Given the description of an element on the screen output the (x, y) to click on. 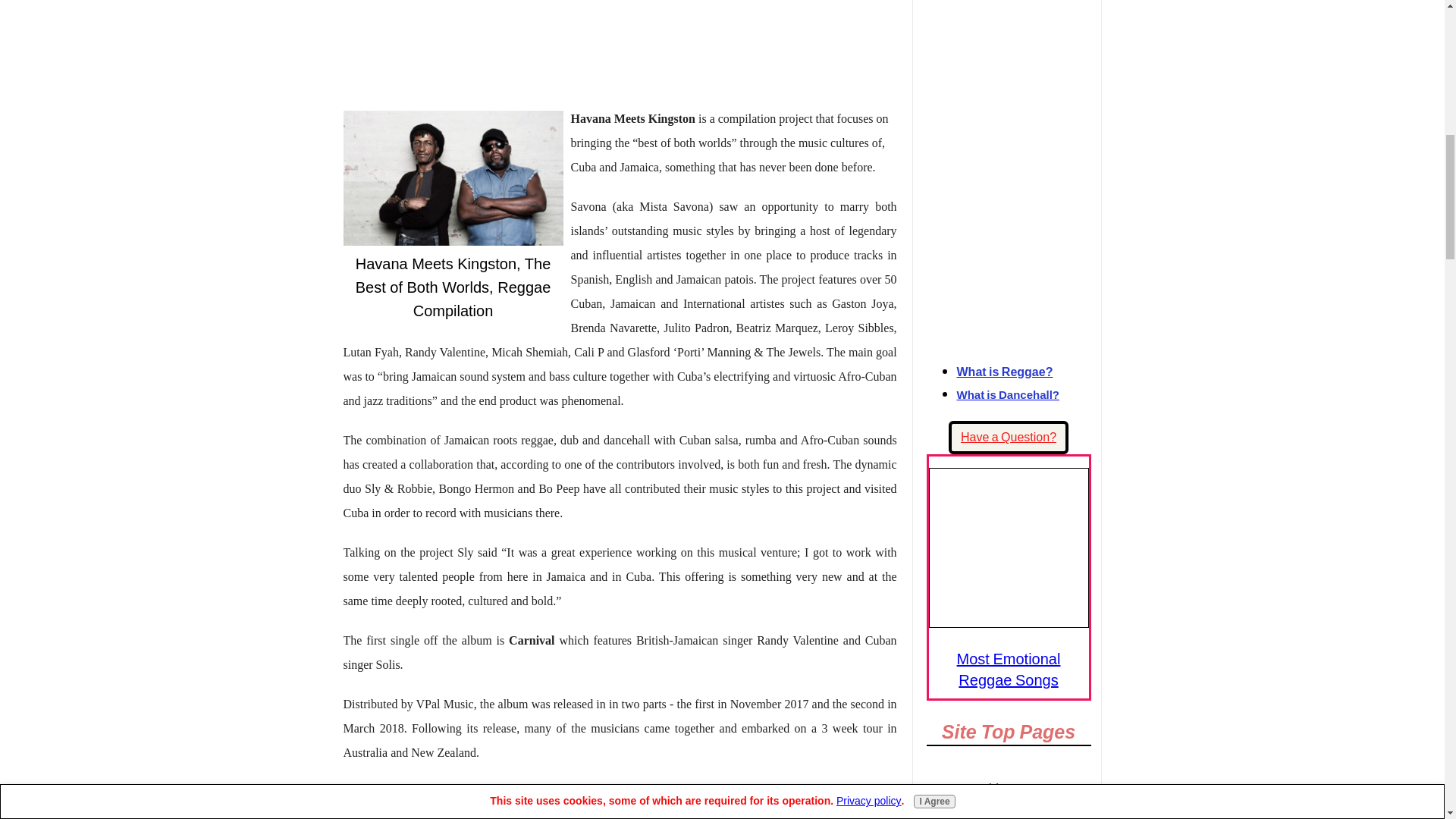
Most Emotional Reggae Songs (1007, 547)
Go to Most Emotional Reggae Songs (1007, 622)
Articles (1008, 811)
What is Reggae? (1004, 371)
Home (1008, 789)
Advertisement (619, 45)
Have a Question? (1008, 437)
Most Emotional Reggae Songs (1008, 669)
What is Dancehall? (1007, 394)
